Given the description of an element on the screen output the (x, y) to click on. 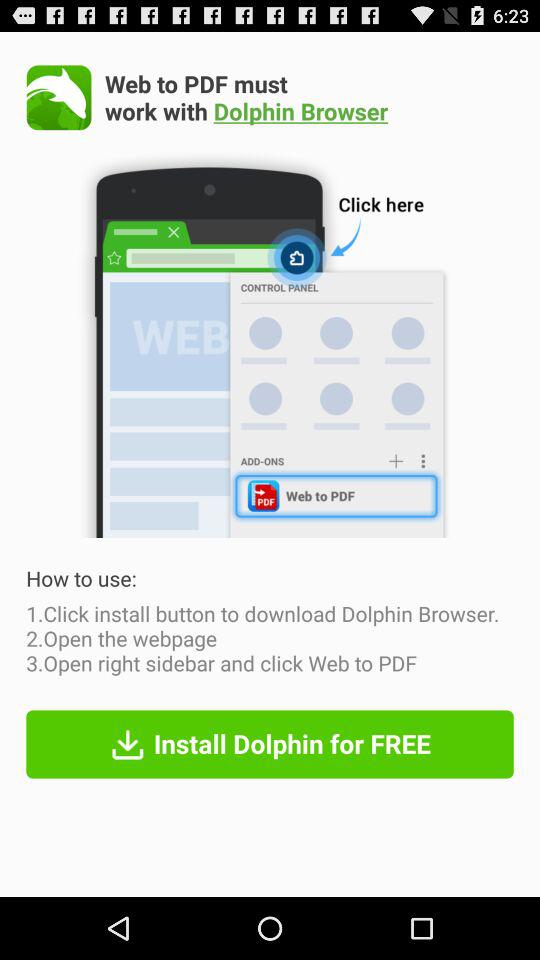
select app next to the web to pdf (58, 97)
